Given the description of an element on the screen output the (x, y) to click on. 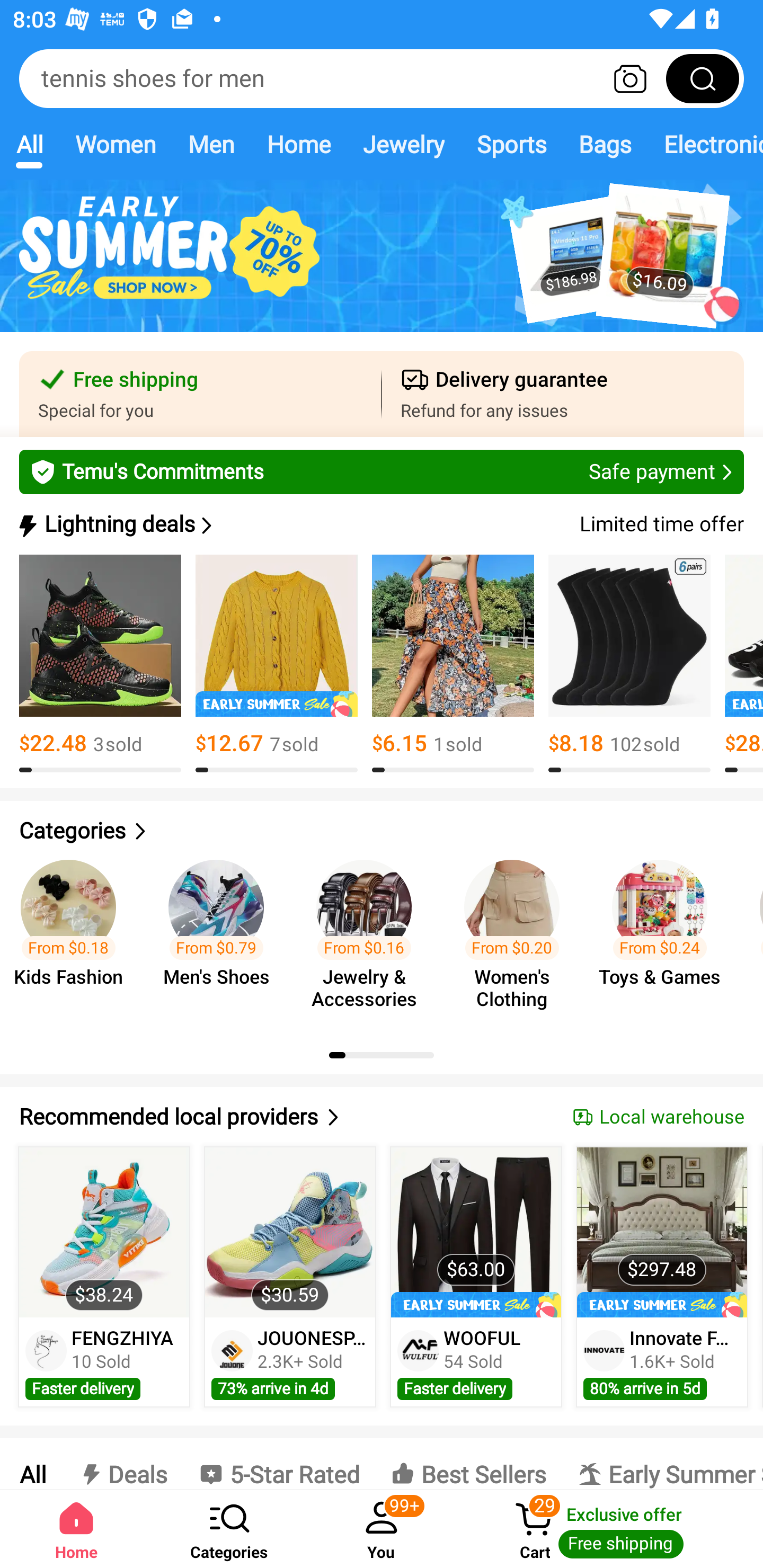
tennis shoes for men (381, 78)
All (29, 144)
Women (115, 144)
Men (211, 144)
Home (298, 144)
Jewelry (403, 144)
Sports (511, 144)
Bags (605, 144)
Electronics (705, 144)
$186.98 $16.09 (381, 265)
Free shipping Special for you (200, 394)
Delivery guarantee Refund for any issues (562, 394)
Temu's Commitments (381, 471)
Lightning deals Lightning deals Limited time offer (379, 524)
$22.48 3￼sold 8.0 (100, 664)
$12.67 7￼sold 8.0 (276, 664)
$6.15 1￼sold 8.0 (453, 664)
$8.18 102￼sold 8.0 (629, 664)
Categories (381, 830)
From $0.18 Kids Fashion (74, 936)
From $0.79 Men's Shoes (222, 936)
From $0.16 Jewelry & Accessories (369, 936)
From $0.20 Women's Clothing (517, 936)
From $0.24 Toys & Games (665, 936)
$38.24 FENGZHIYA 10 Sold Faster delivery (103, 1276)
$30.59 JOUONESPORTS 2.3K+ Sold 73% arrive in 4d (289, 1276)
$63.00 WOOFUL 54 Sold Faster delivery (475, 1276)
$38.24 (104, 1232)
$30.59 (290, 1232)
$63.00 (475, 1232)
$297.48 (661, 1232)
All (32, 1463)
Deals Deals Deals (122, 1463)
5-Star Rated 5-Star Rated 5-Star Rated (279, 1463)
Best Sellers Best Sellers Best Sellers (468, 1463)
Home (76, 1528)
Categories (228, 1528)
You ‎99+‎ You (381, 1528)
Cart 29 Cart Exclusive offer (610, 1528)
